Given the description of an element on the screen output the (x, y) to click on. 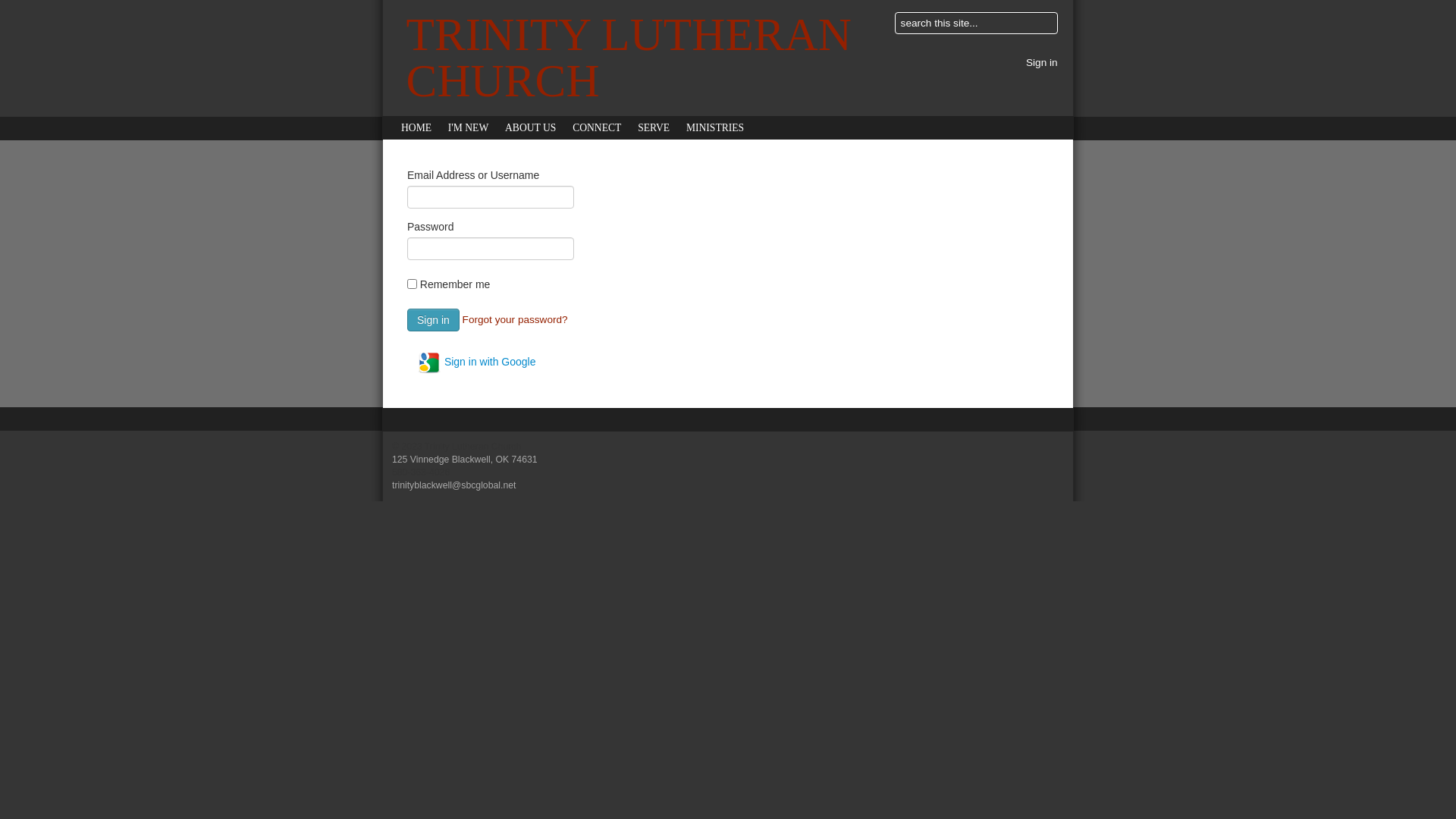
125 Vinnedge Blackwell, OK 74631 Element type: text (464, 459)
Forgot your password? Element type: text (514, 319)
Sign in with Google Element type: text (476, 362)
Sign in Element type: text (433, 319)
trinityblackwell@sbcglobal.net Element type: text (453, 485)
HOME Element type: text (416, 127)
Sign in Element type: text (1041, 62)
